Given the description of an element on the screen output the (x, y) to click on. 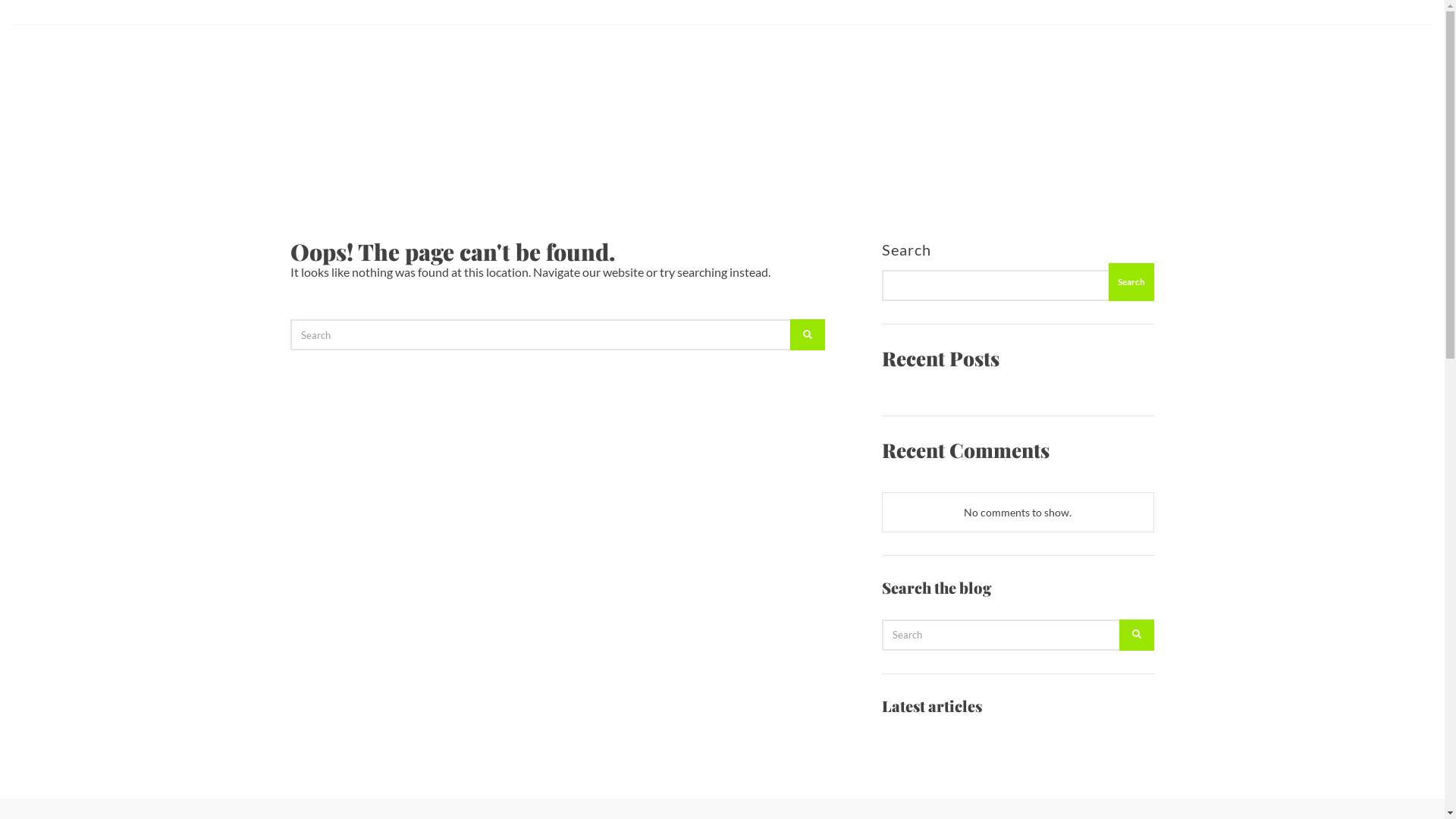
Search Element type: text (1136, 634)
Search Element type: text (807, 334)
SERVICES Element type: text (212, 61)
CONTACT Element type: text (1409, 61)
Search Element type: text (1131, 282)
HOME Element type: text (41, 61)
THE CHIROPRACTOR Element type: text (122, 61)
